Given the description of an element on the screen output the (x, y) to click on. 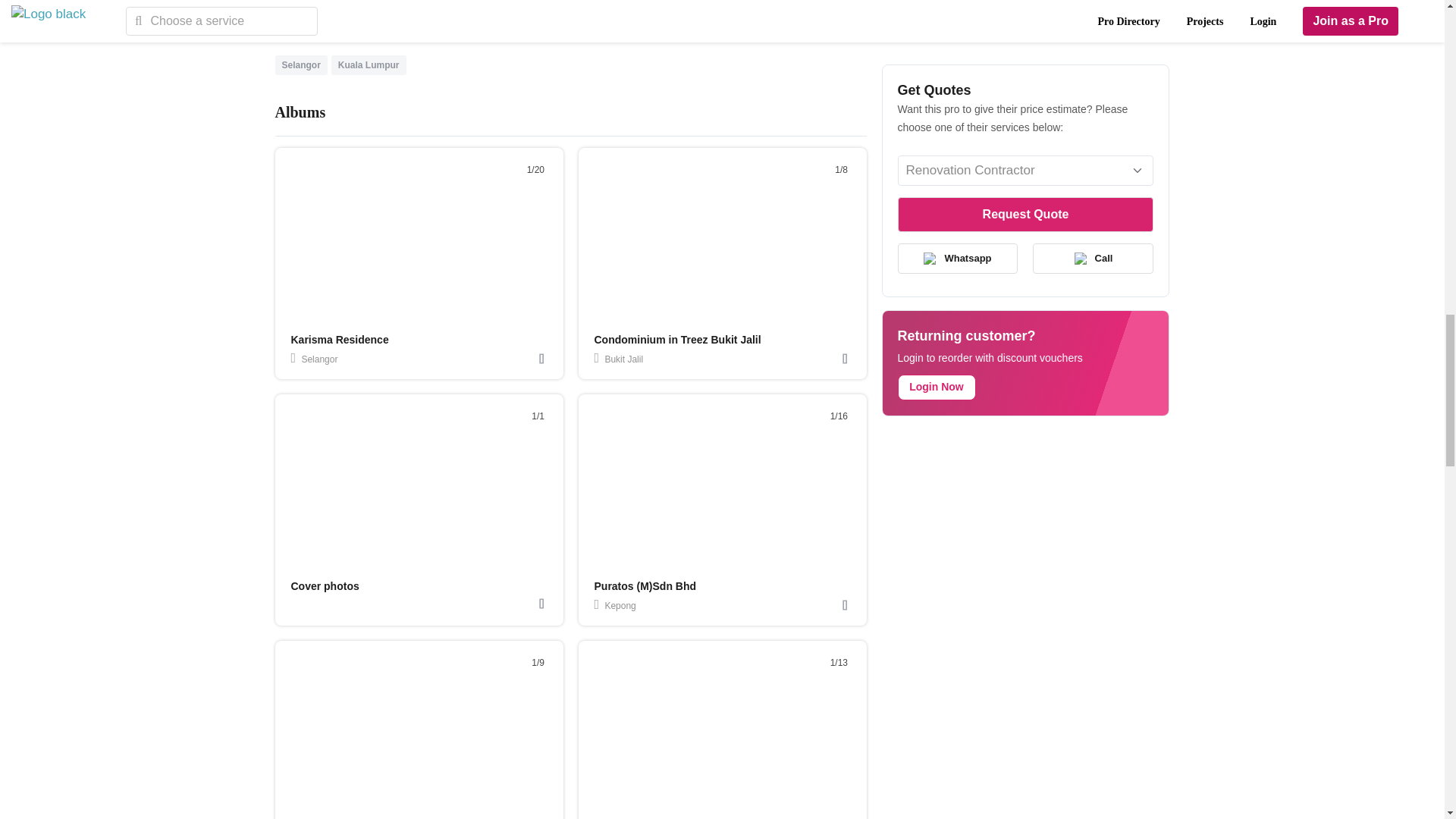
Selangor (301, 64)
Kitchen Cabinet (719, 0)
Cover photos (325, 585)
Condominium in Treez Bukit Jalil (677, 339)
Kontraktor Rumah (627, 0)
Karisma Residence (339, 339)
Renovation Contractor (331, 0)
Cabinet Contractor (438, 0)
Kuala Lumpur (367, 64)
Interior Designer (533, 0)
Direct (784, 0)
